Given the description of an element on the screen output the (x, y) to click on. 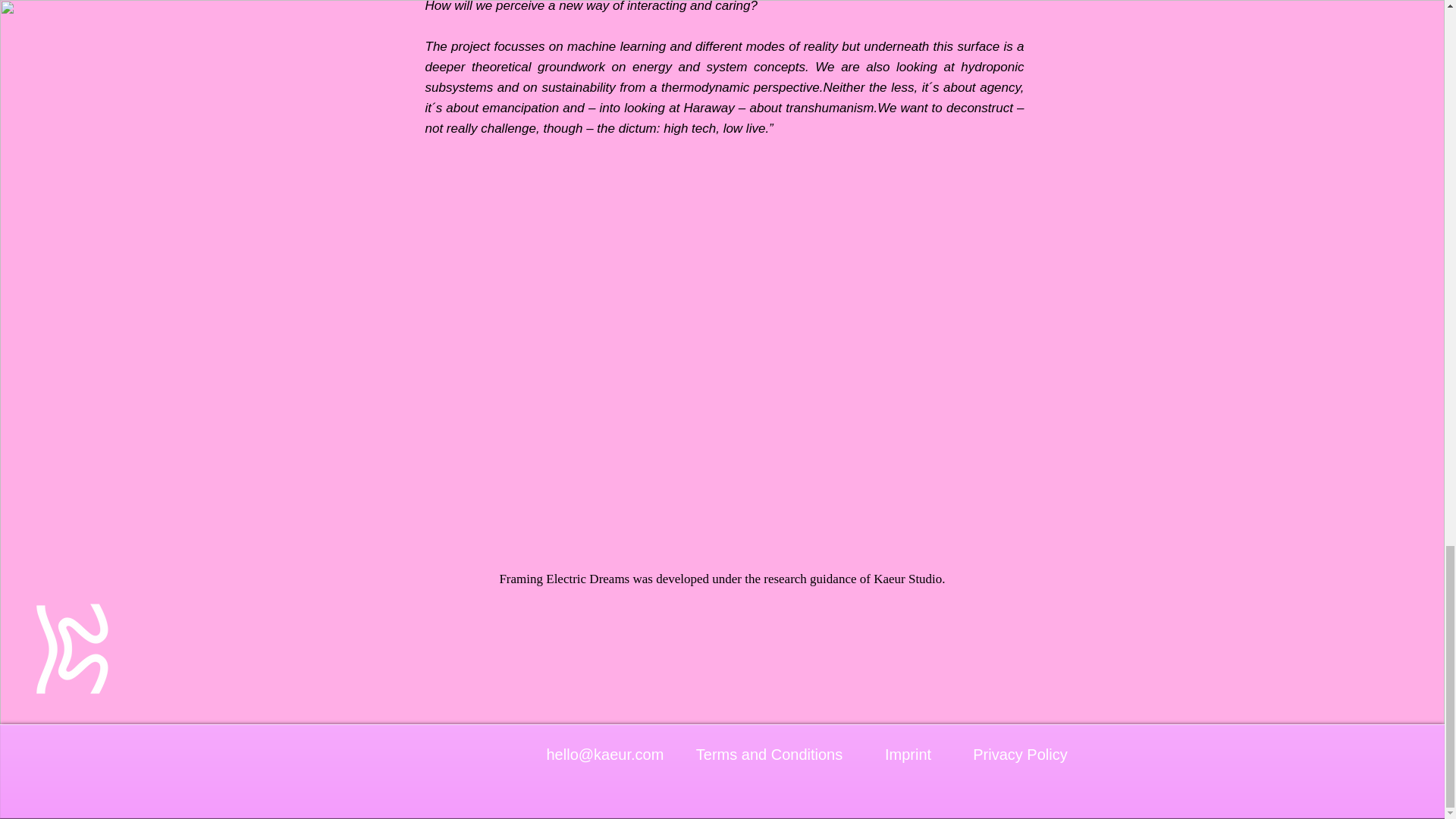
Privacy Policy (1020, 754)
Imprint (906, 754)
Terms and Conditions (769, 754)
